Given the description of an element on the screen output the (x, y) to click on. 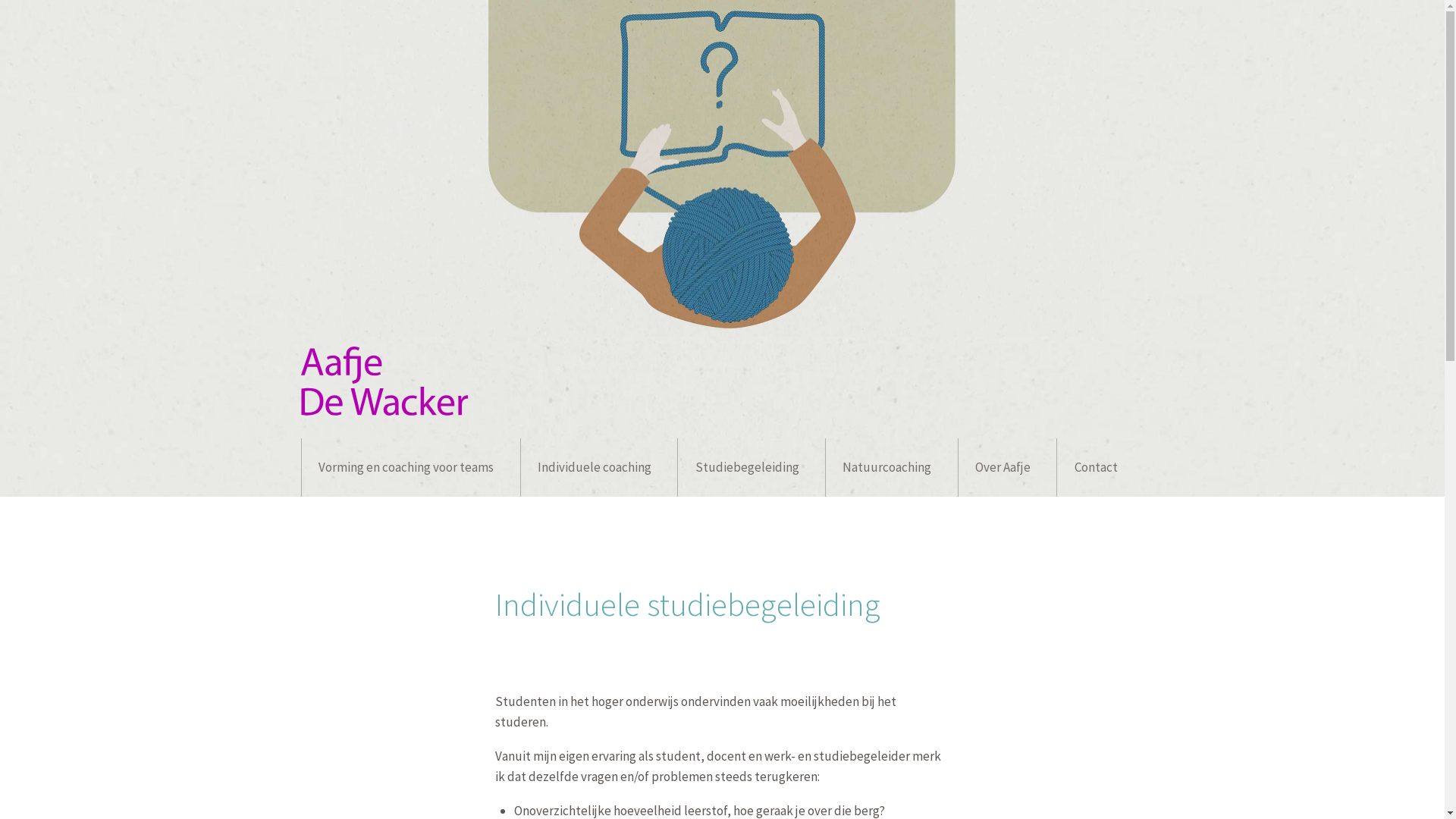
Natuurcoaching Element type: text (891, 467)
Over Aafje Element type: text (1007, 467)
Individuele coaching Element type: text (598, 467)
Vorming en coaching voor teams Element type: text (410, 467)
Aafje De Wacker Element type: hover (384, 410)
Contact Element type: text (1099, 467)
Studiebegeleiding Element type: text (751, 467)
